Given the description of an element on the screen output the (x, y) to click on. 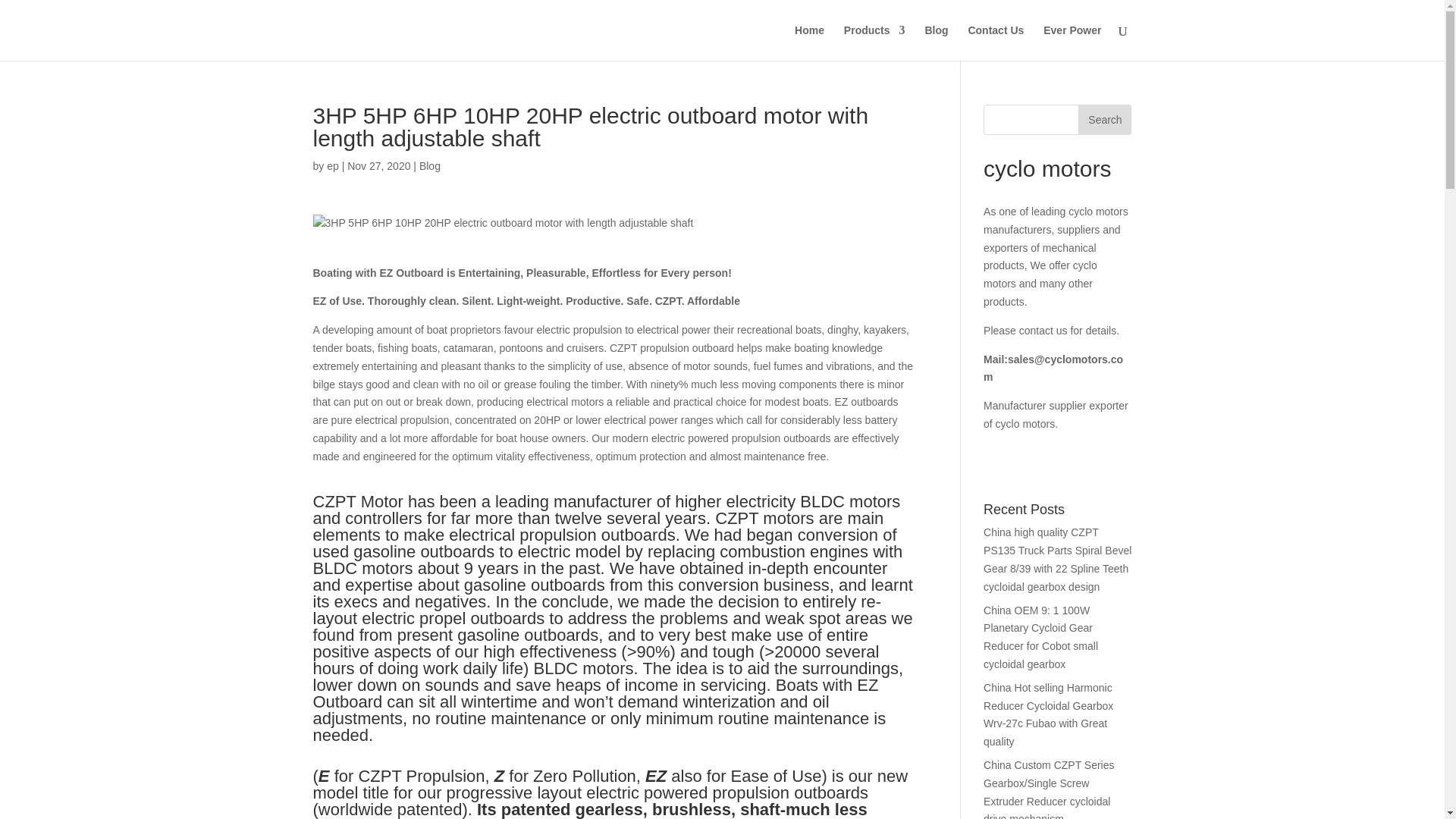
Products (874, 42)
Posts by ep (332, 165)
Search (1104, 119)
Contact Us (995, 42)
ep (332, 165)
Ever Power (1071, 42)
Blog (430, 165)
Search (1104, 119)
